Given the description of an element on the screen output the (x, y) to click on. 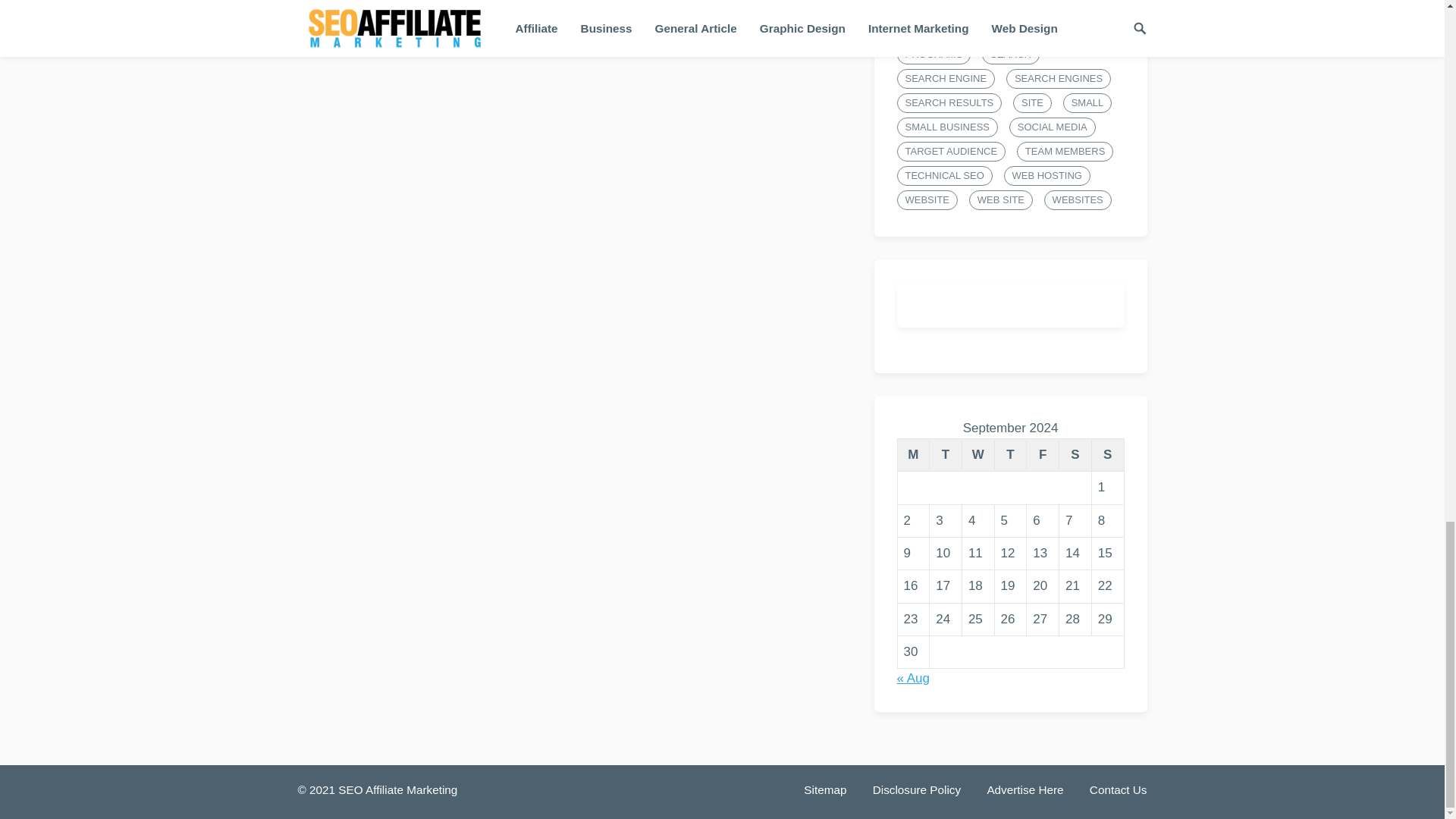
Tuesday (946, 454)
Friday (1042, 454)
Sunday (1107, 454)
Thursday (1010, 454)
Monday (913, 454)
Saturday (1075, 454)
Wednesday (977, 454)
